Given the description of an element on the screen output the (x, y) to click on. 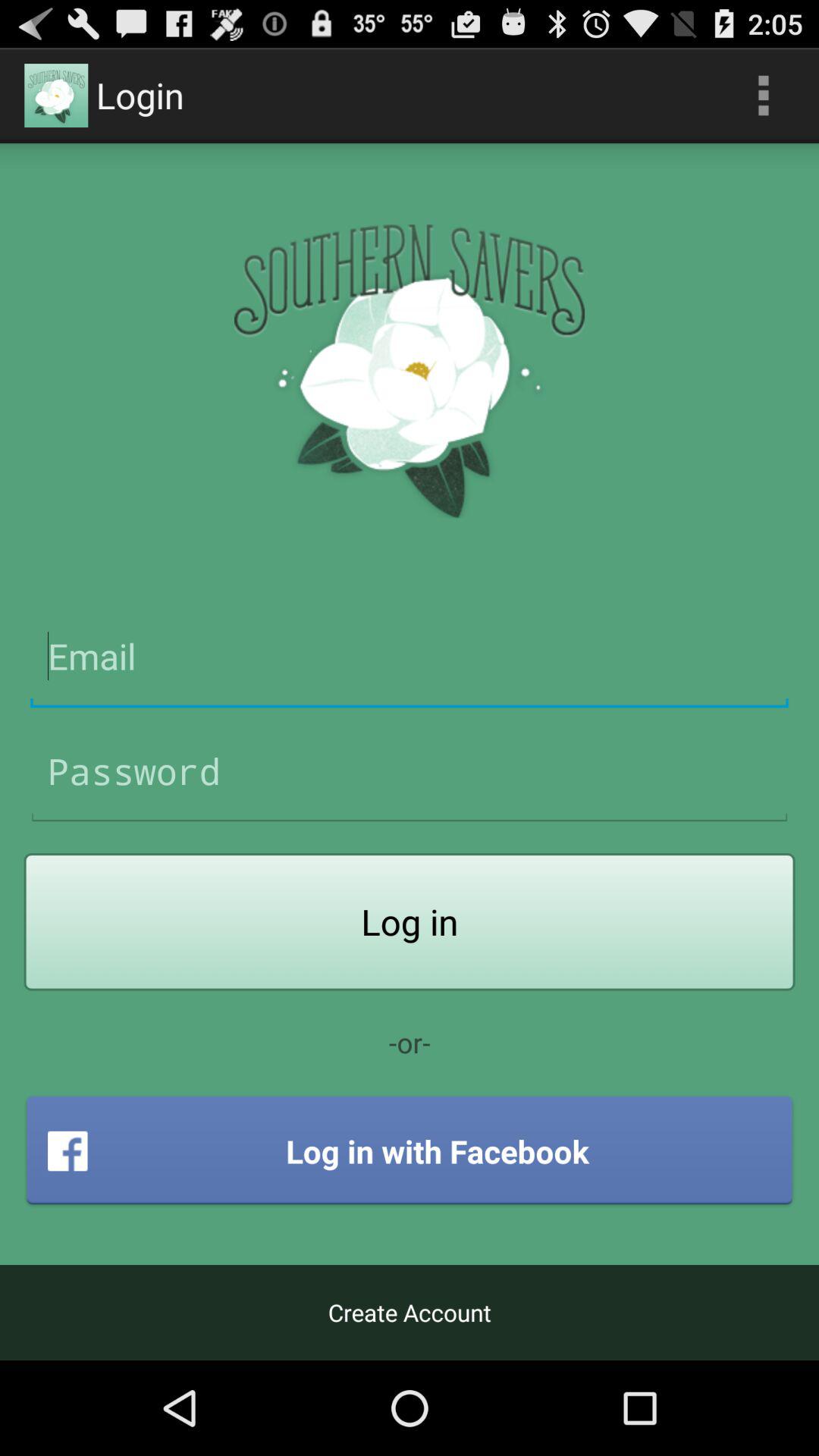
swipe to the create account icon (409, 1312)
